Given the description of an element on the screen output the (x, y) to click on. 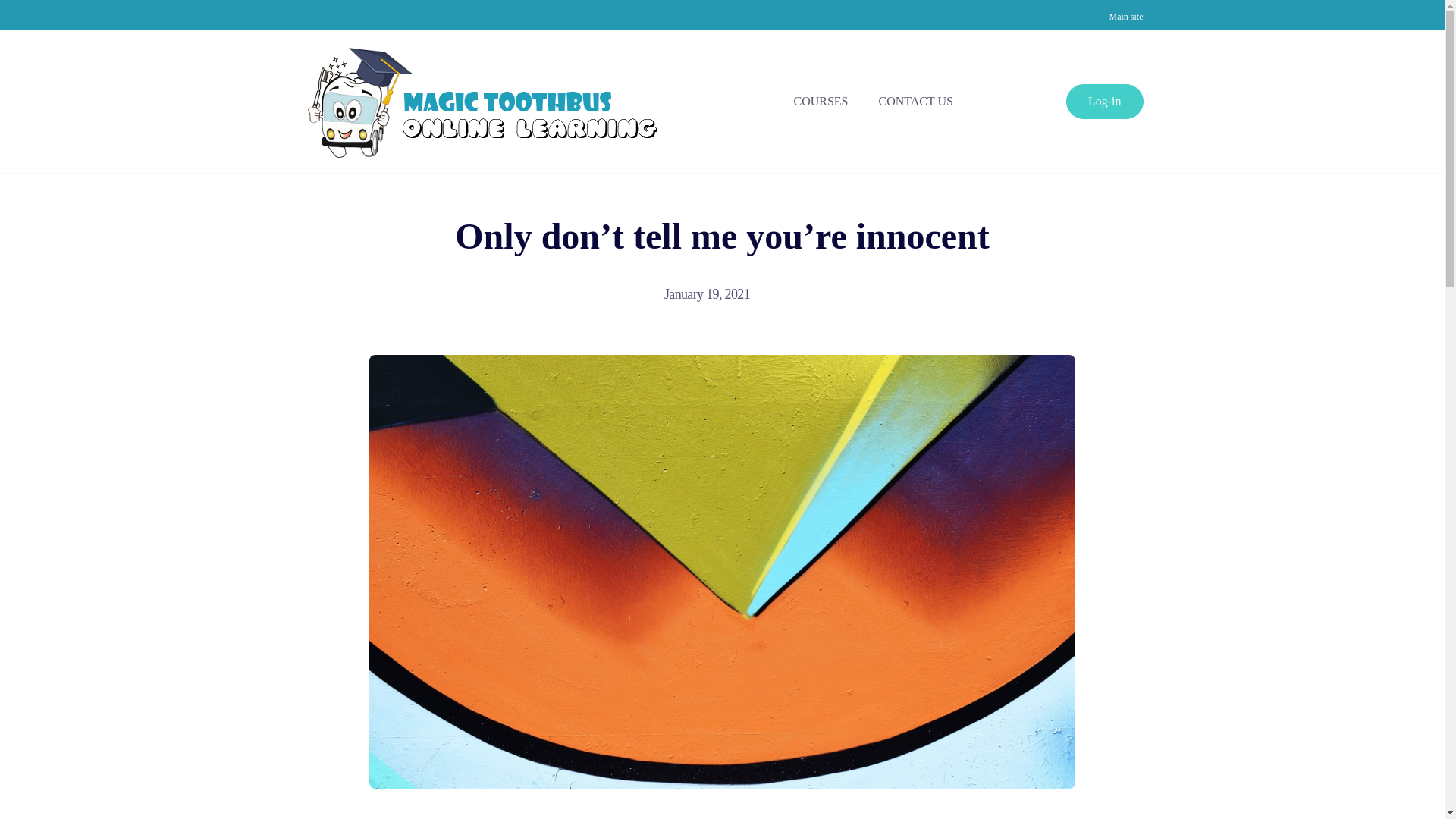
CONTACT US (915, 101)
January 19, 2021 (714, 294)
Log-in (1103, 100)
Main site (1125, 16)
COURSES (820, 101)
